Given the description of an element on the screen output the (x, y) to click on. 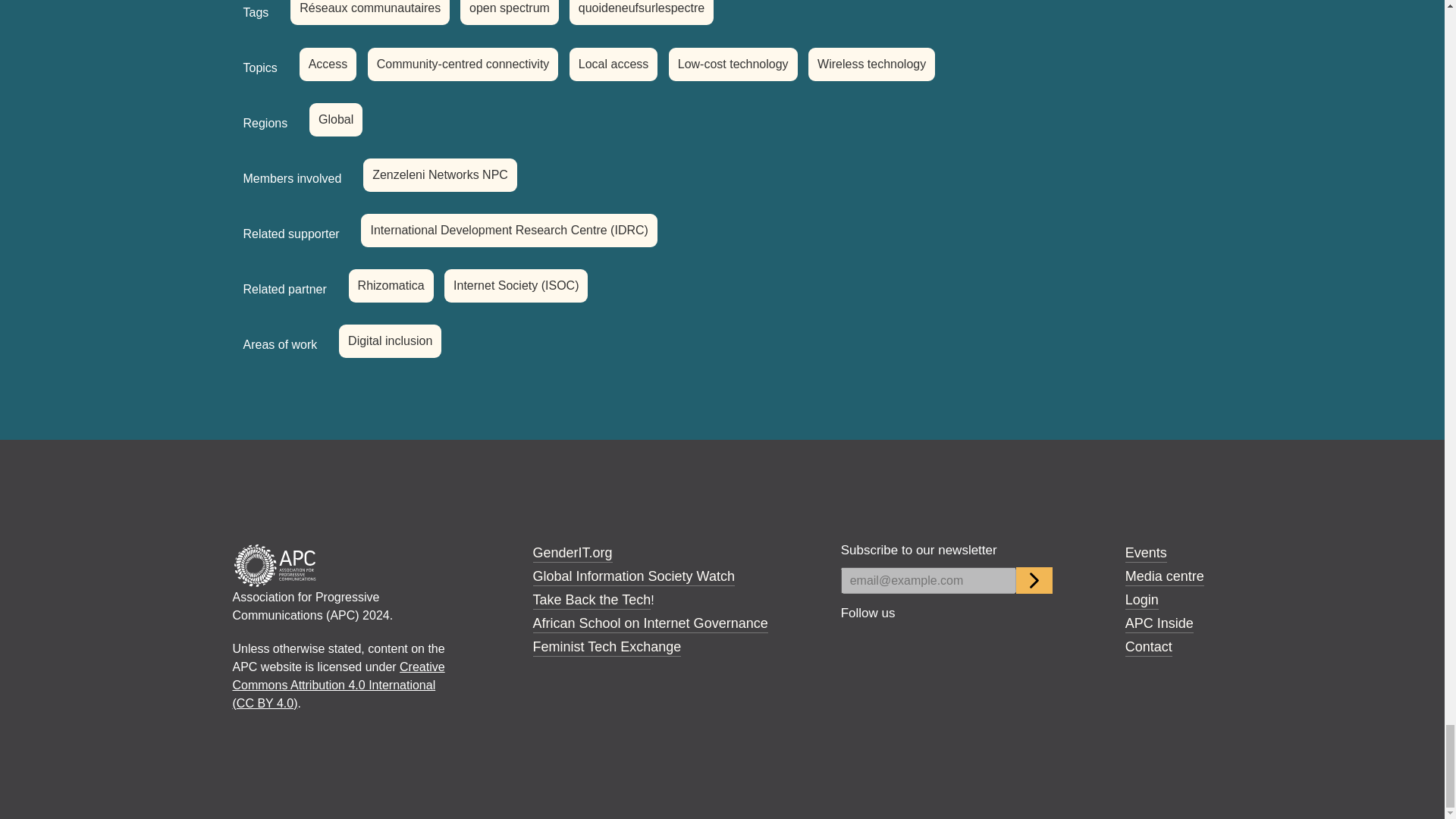
For site managers (1141, 599)
Homepage (274, 563)
RSS (1041, 643)
Twitter (893, 643)
LinkedIn (1004, 643)
Mastodon (967, 643)
Instagram (930, 643)
Intranet for APC members associates and staff (1159, 623)
Facebook (855, 643)
